Given the description of an element on the screen output the (x, y) to click on. 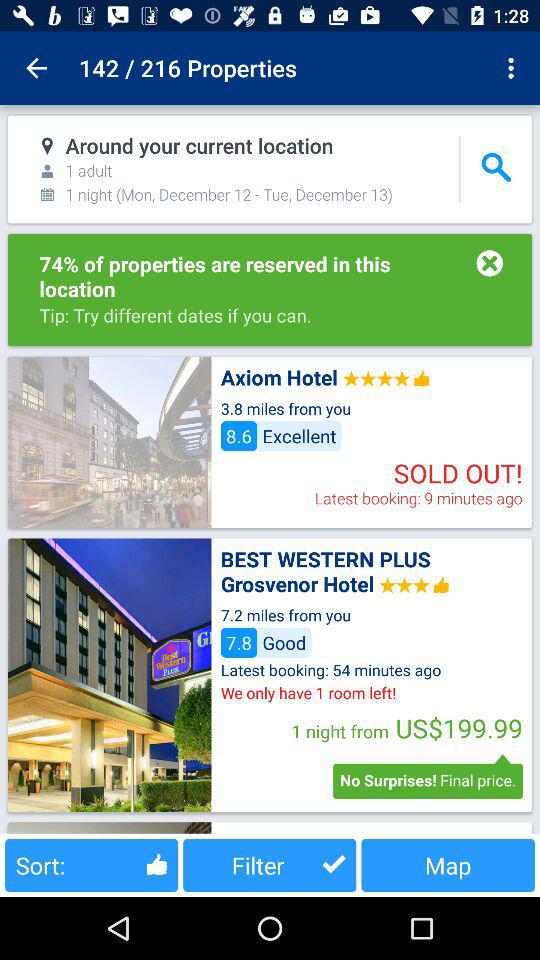
choose item to the left of 142 / 216 properties app (36, 68)
